Given the description of an element on the screen output the (x, y) to click on. 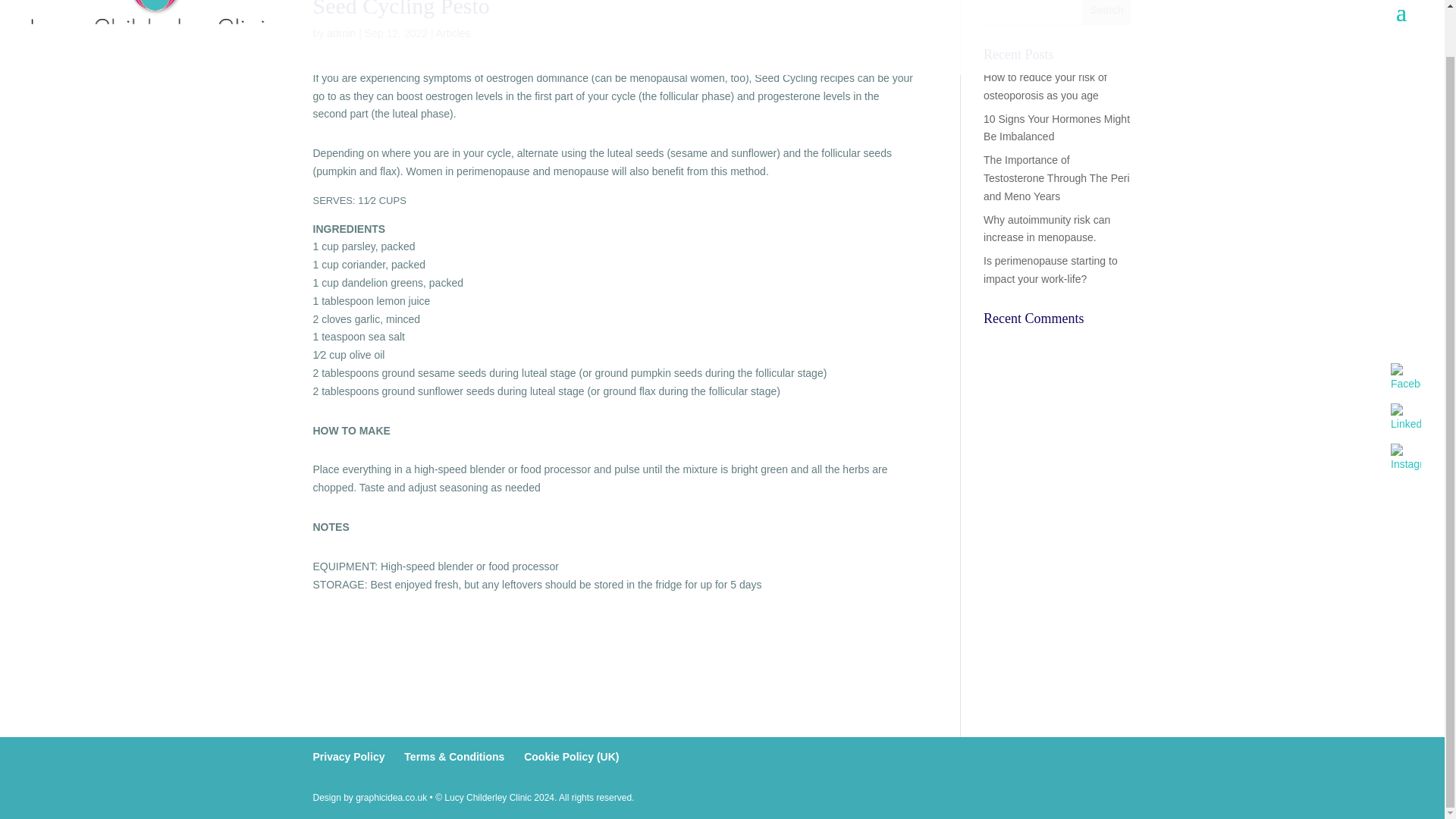
Search (1106, 12)
Is perimenopause starting to impact your work-life? (1051, 269)
Instagram (1405, 458)
LinkedIn (1405, 418)
Articles (452, 33)
Search (1106, 12)
Facebook (1405, 378)
Posts by admin (340, 33)
Privacy Policy (348, 756)
